Given the description of an element on the screen output the (x, y) to click on. 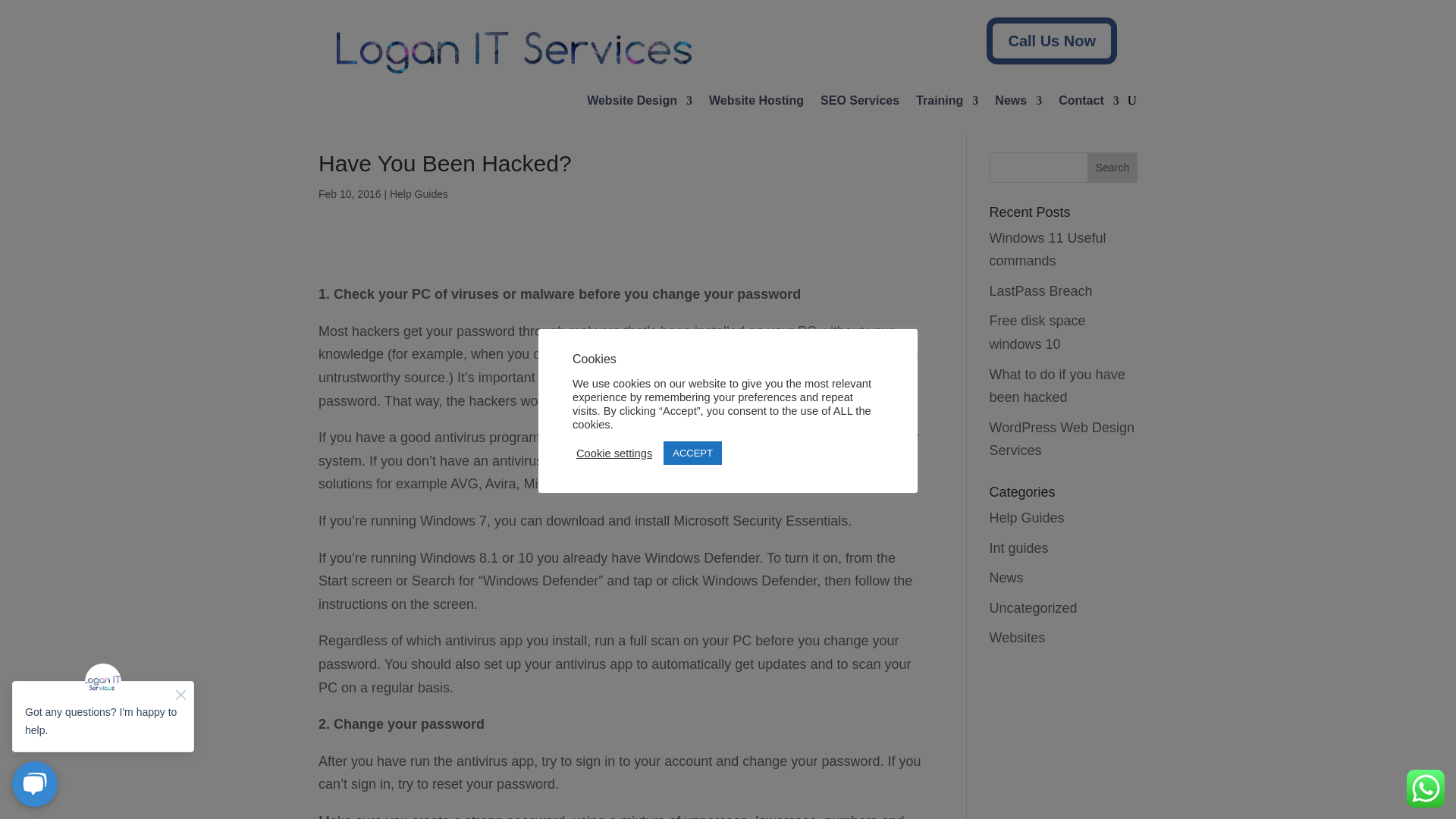
Call Us Now (1051, 40)
Website Hosting (756, 103)
News (1018, 103)
Website Design (639, 103)
Contact (1088, 103)
SEO Services (860, 103)
Training (946, 103)
Search (1112, 167)
new logo2 (511, 50)
Chat Widget (103, 734)
